Given the description of an element on the screen output the (x, y) to click on. 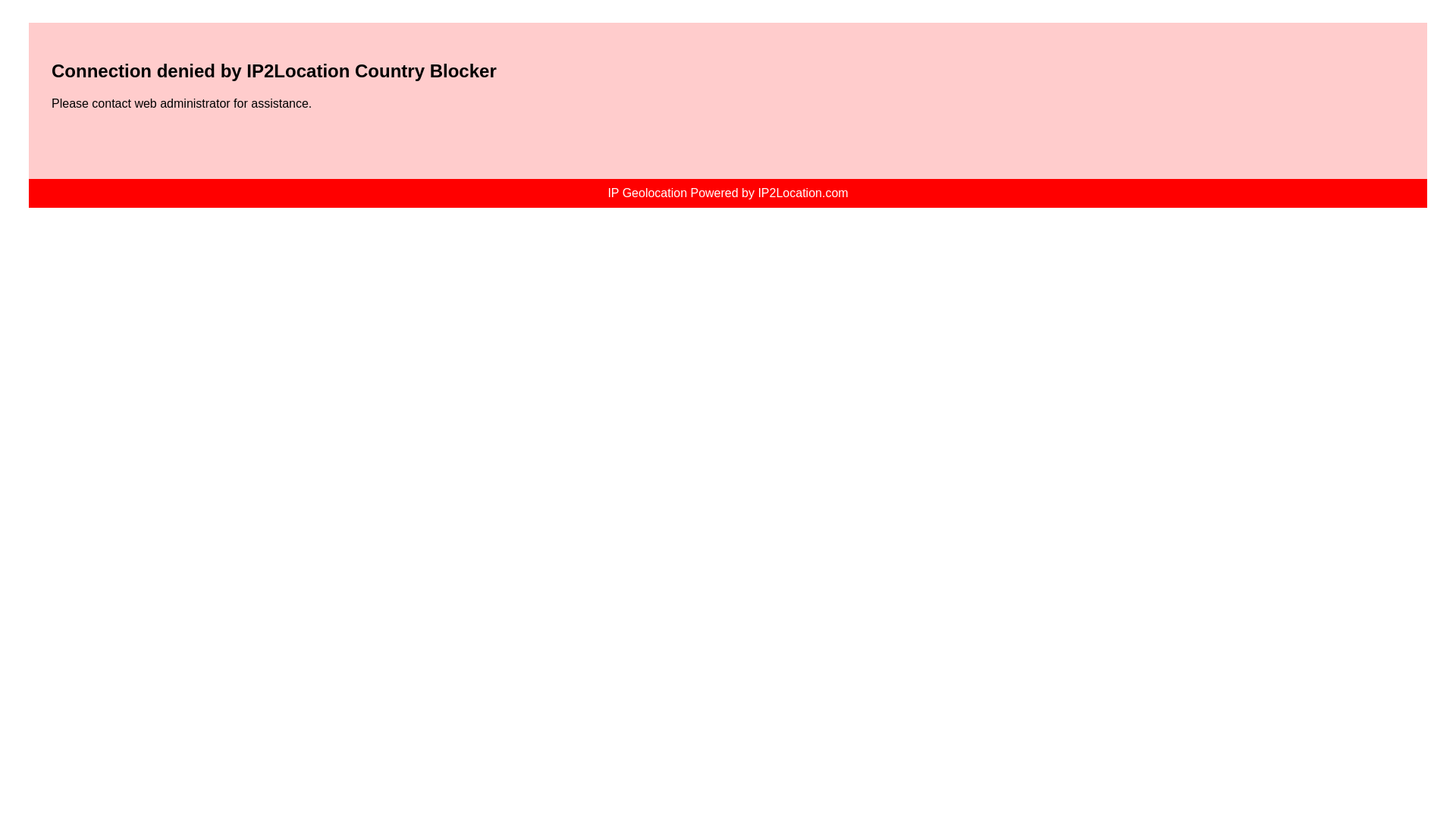
IP Geolocation Powered by IP2Location.com (727, 192)
